Given the description of an element on the screen output the (x, y) to click on. 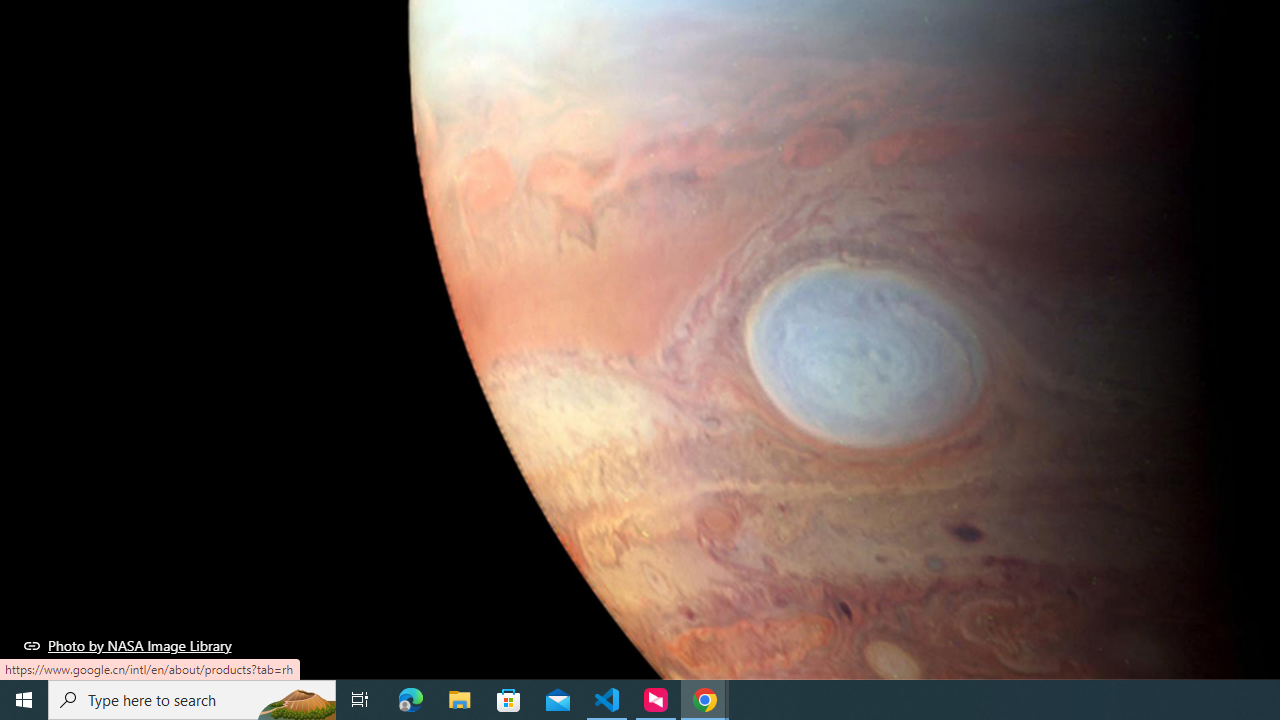
Photo by NASA Image Library (127, 645)
